Given the description of an element on the screen output the (x, y) to click on. 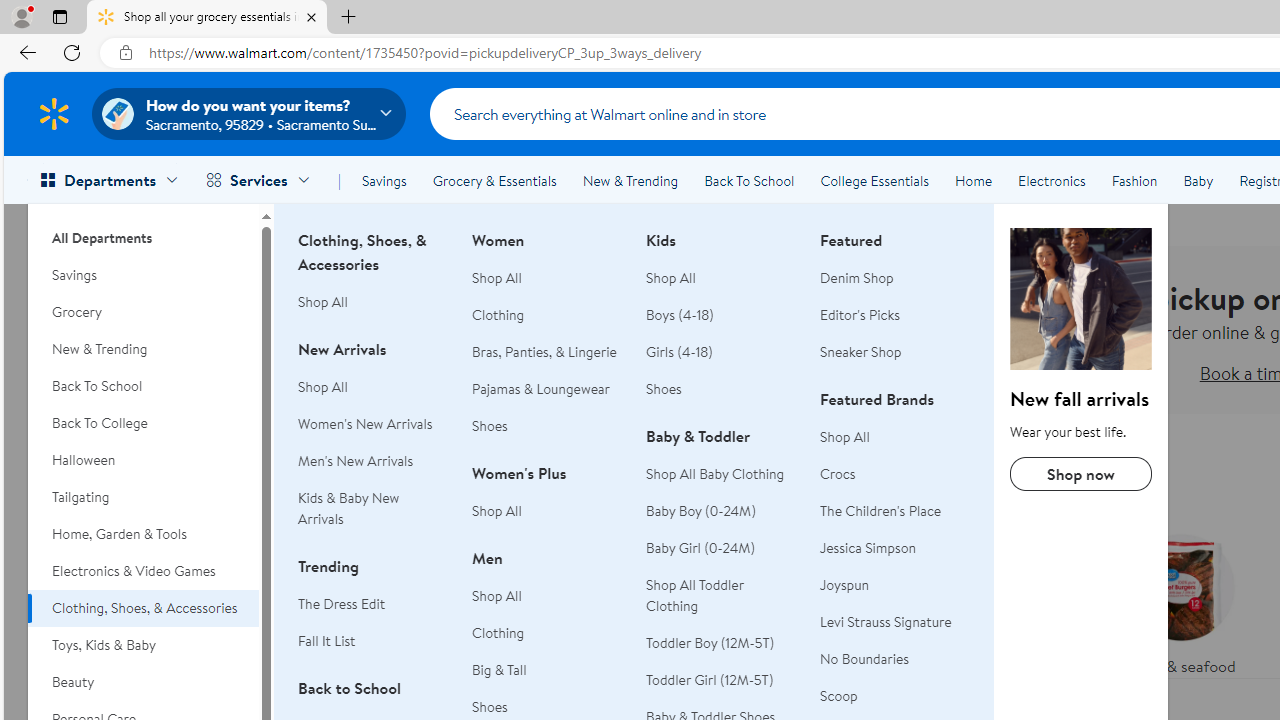
The Children's Place (881, 511)
Pajamas & Loungewear (541, 388)
Shop now (1080, 474)
Boys (4-18) (721, 315)
Baby Boy (0-24M) (721, 511)
The Dress Edit (373, 604)
Savings (384, 180)
Baby Girl (0-24M) (701, 547)
Crocs (895, 474)
